Given the description of an element on the screen output the (x, y) to click on. 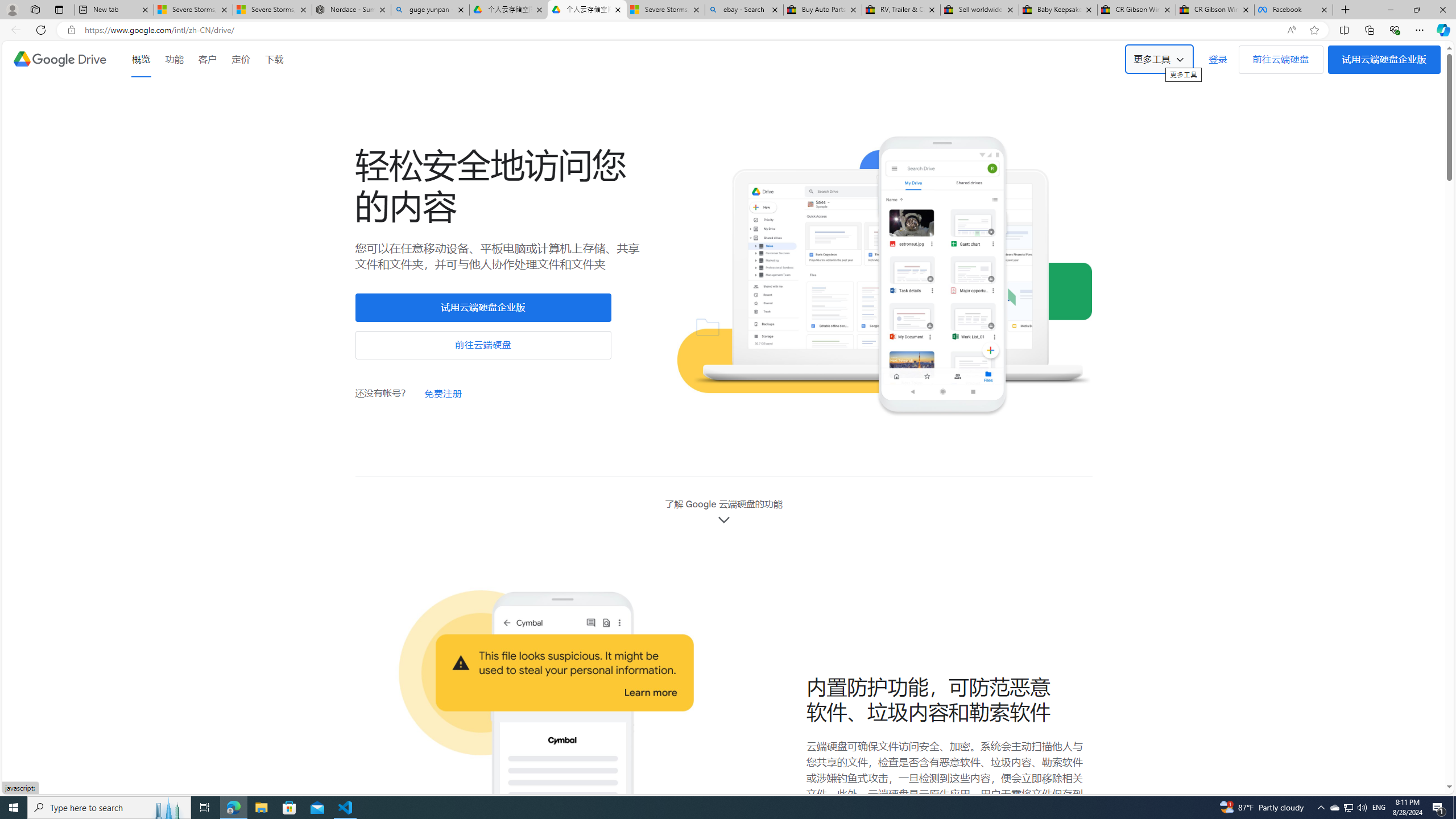
drive-hero (884, 276)
